Given the description of an element on the screen output the (x, y) to click on. 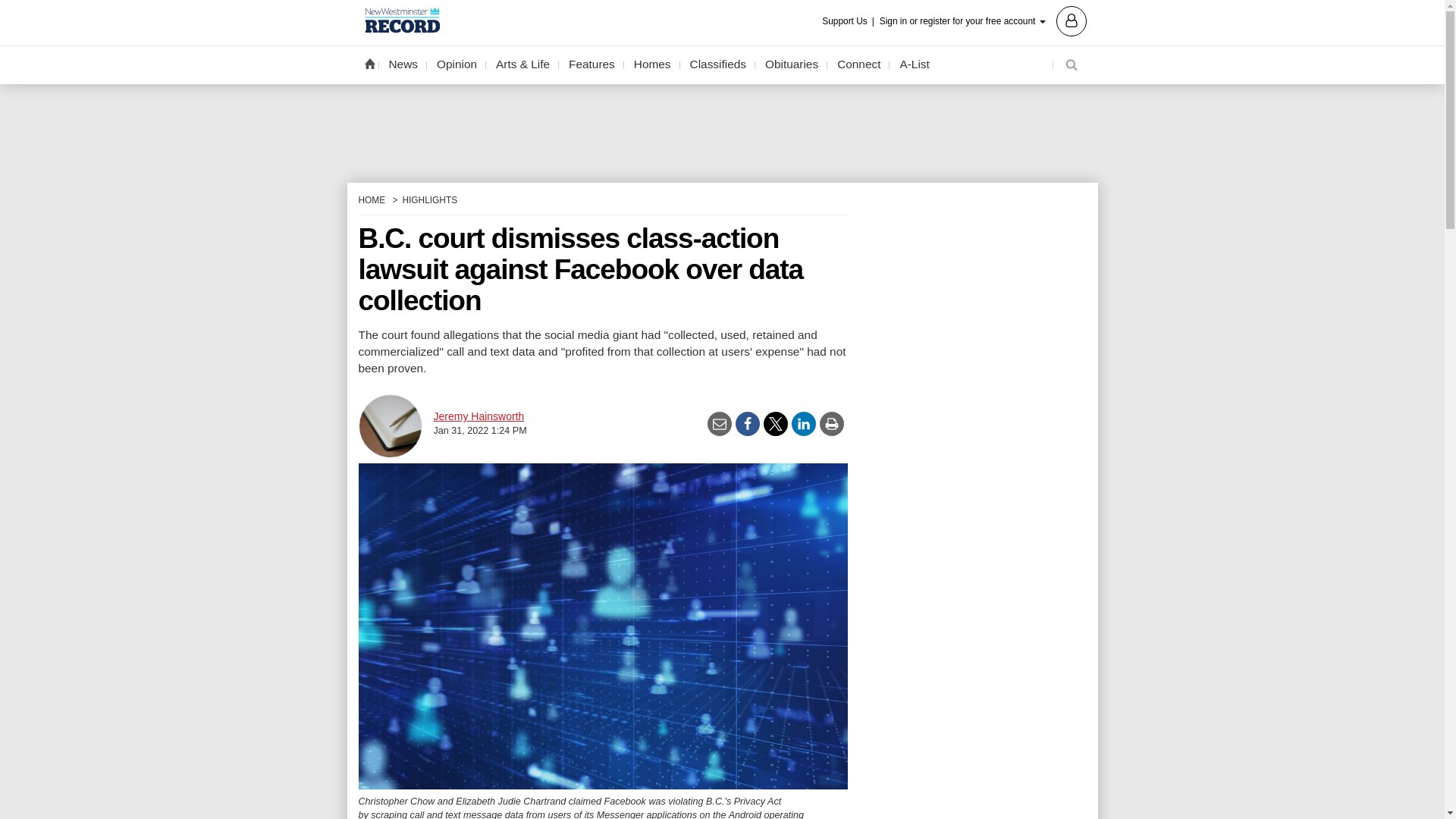
Support Us (849, 21)
Home (368, 63)
Sign in or register for your free account (982, 20)
News (403, 64)
Opinion (456, 64)
